Given the description of an element on the screen output the (x, y) to click on. 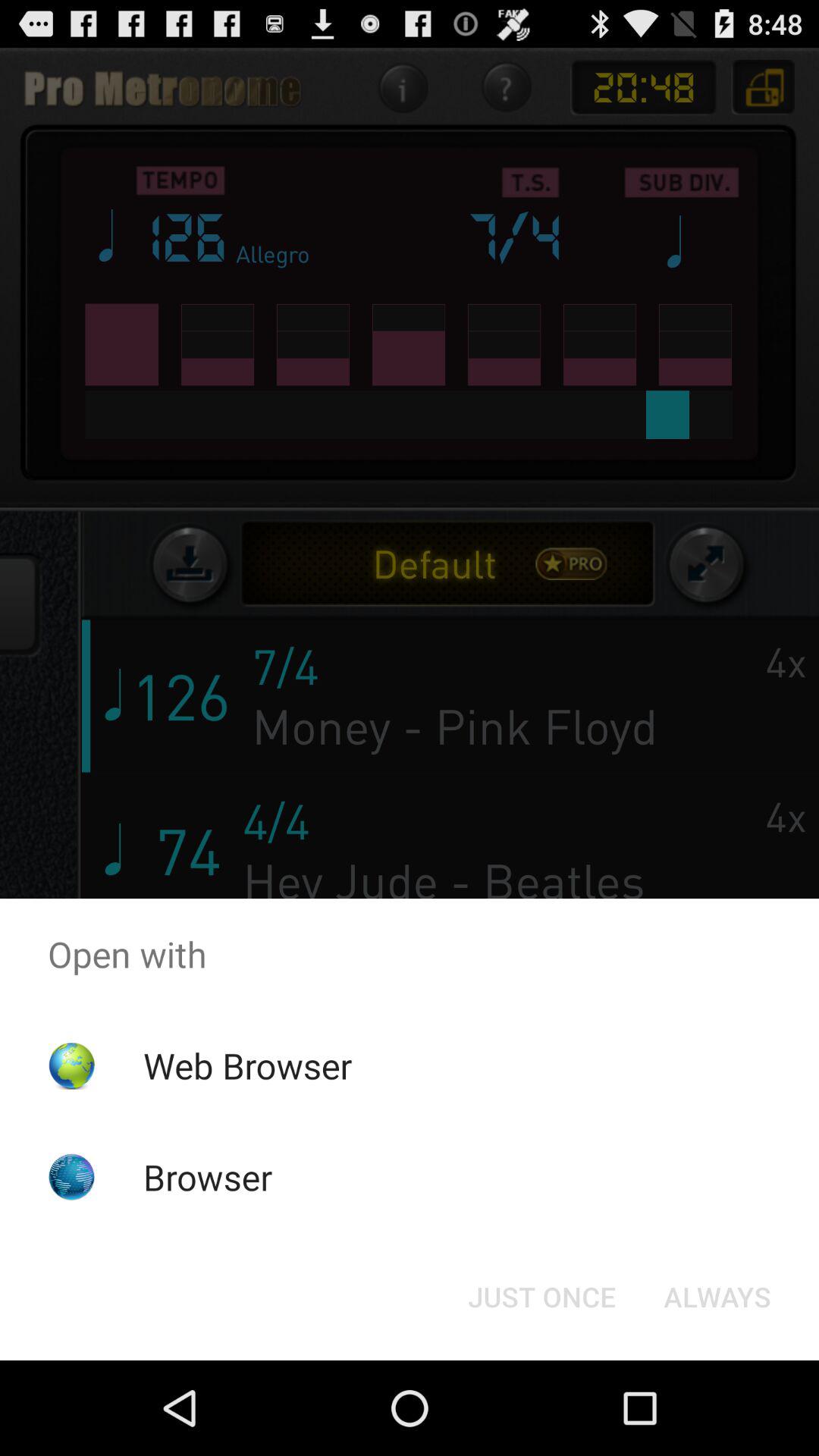
flip to the web browser app (247, 1065)
